Given the description of an element on the screen output the (x, y) to click on. 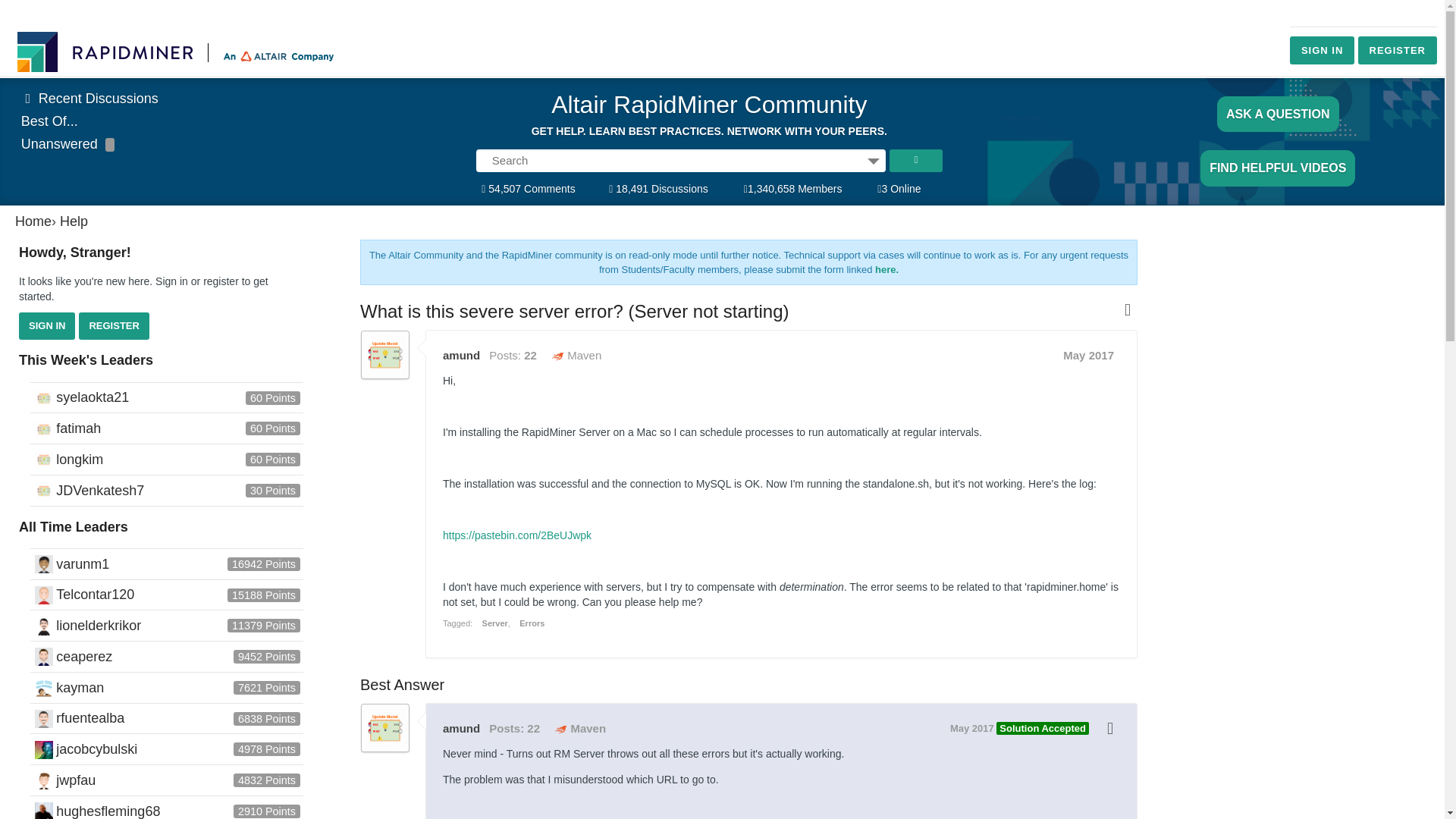
Maven (576, 354)
Altair RapidMiner Community (708, 109)
SIGN IN (1322, 50)
Best Of... (49, 120)
REGISTER (1397, 50)
ASK A QUESTION (1278, 113)
SIGN IN (46, 325)
May 24, 2017 7:11AM (972, 727)
Search (915, 160)
Recent Discussions (89, 98)
RapidMiner Community (177, 52)
Solution Accepted (1042, 727)
Help (73, 221)
Options (873, 160)
Maven (579, 727)
